Given the description of an element on the screen output the (x, y) to click on. 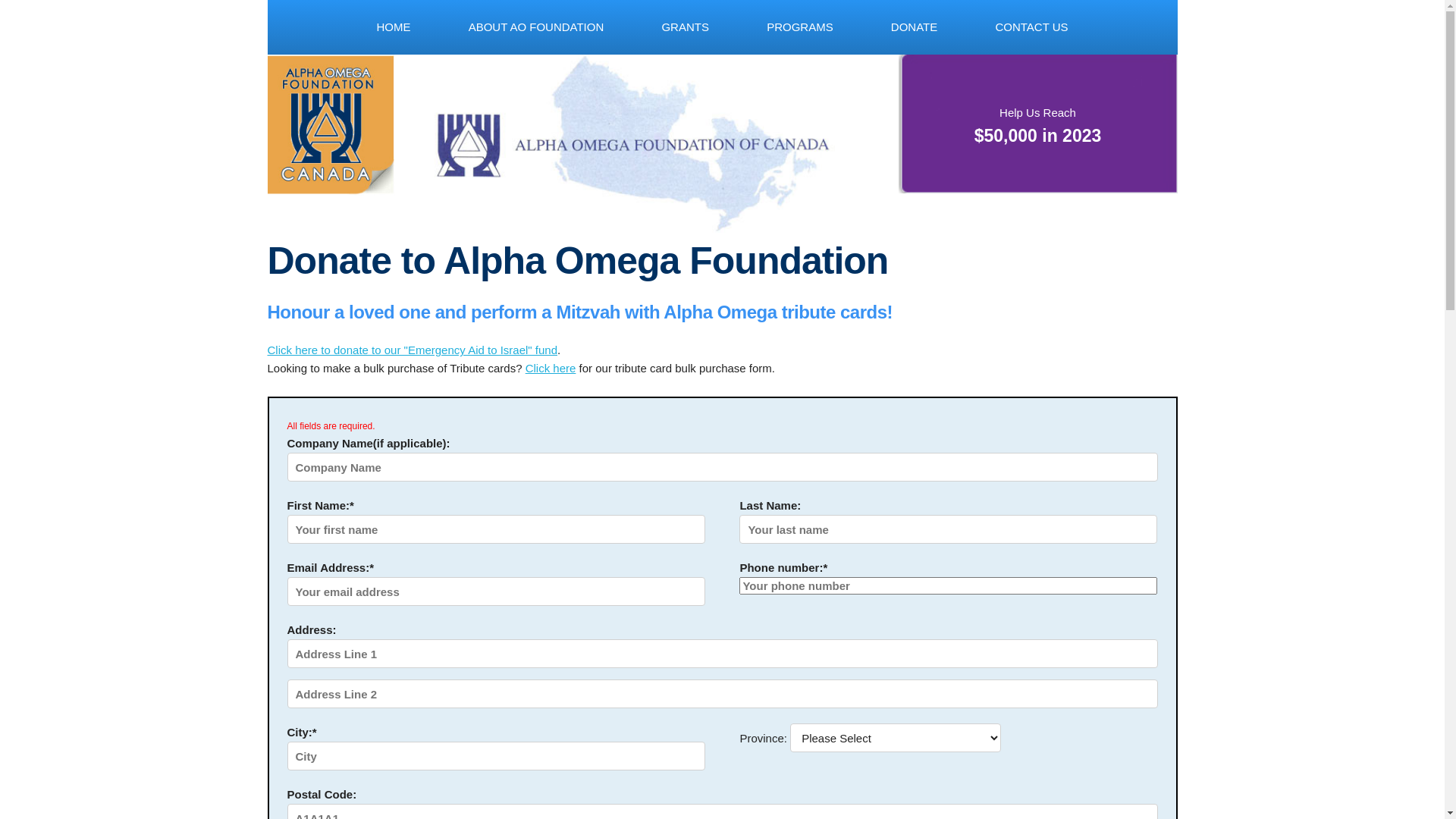
HOME Element type: text (392, 27)
GRANTS Element type: text (684, 27)
PROGRAMS Element type: text (799, 27)
CONTACT US Element type: text (1031, 27)
DONATE Element type: text (913, 27)
Click here Element type: text (550, 367)
ABOUT AO FOUNDATION Element type: text (536, 27)
Click here to donate to our "Emergency Aid to Israel" fund Element type: text (411, 349)
